Given the description of an element on the screen output the (x, y) to click on. 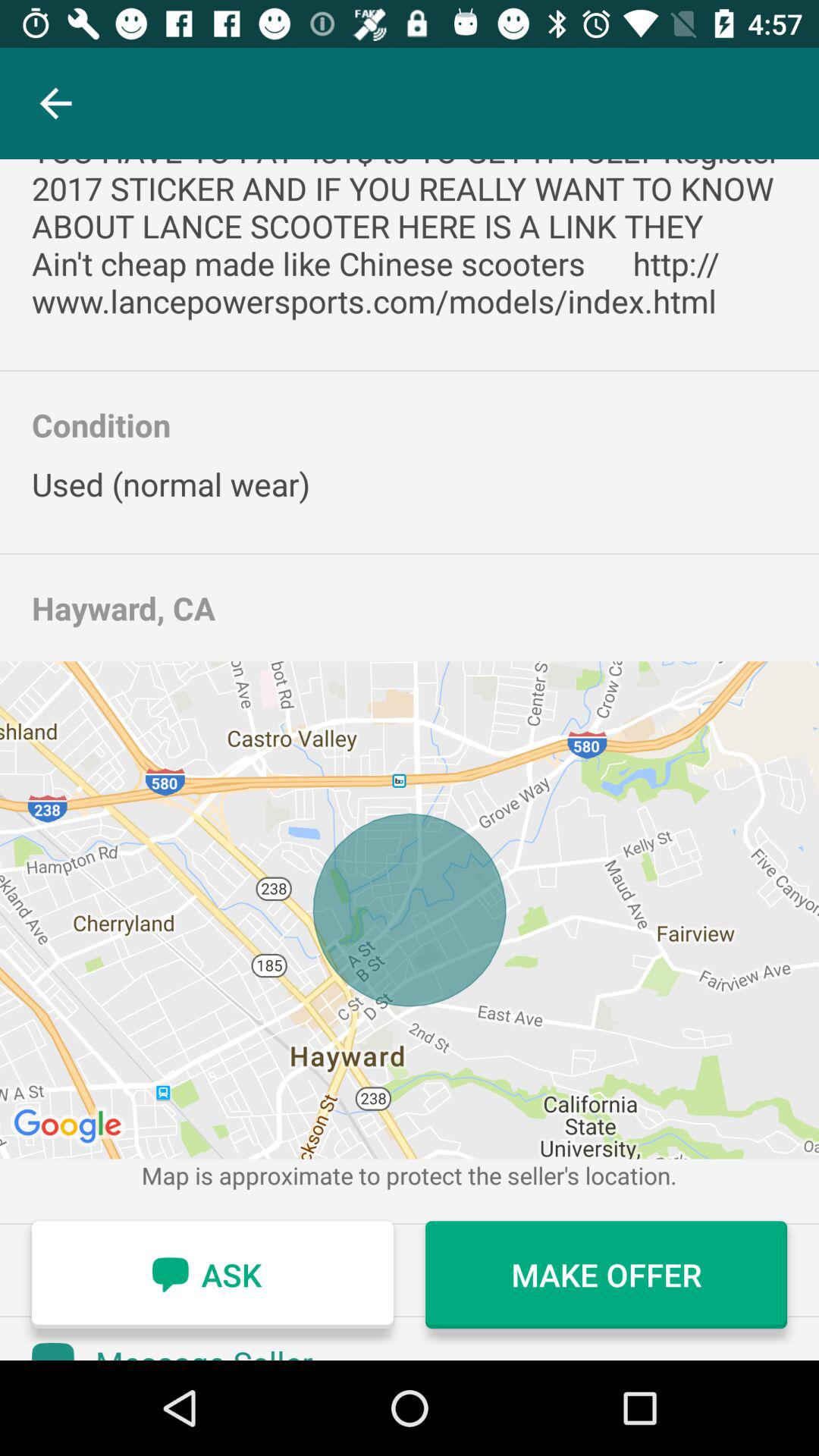
launch icon at the bottom right corner (606, 1274)
